Given the description of an element on the screen output the (x, y) to click on. 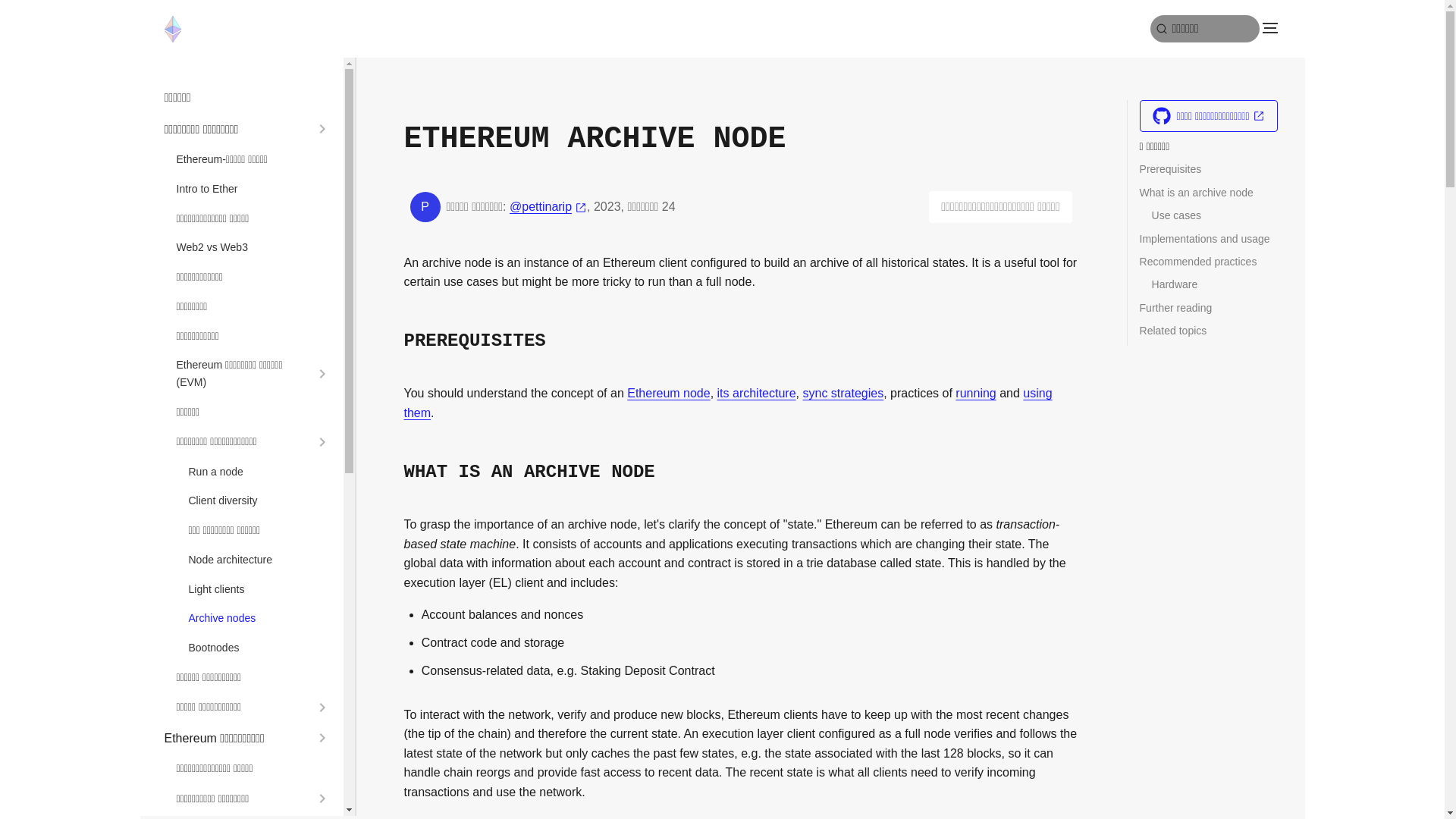
Run a node (258, 471)
Archive nodes (258, 618)
Intro to Ether (253, 189)
Client diversity (258, 500)
Web2 vs Web3 (253, 247)
Node architecture (258, 559)
Light clients (258, 589)
Bootnodes (258, 647)
